Given the description of an element on the screen output the (x, y) to click on. 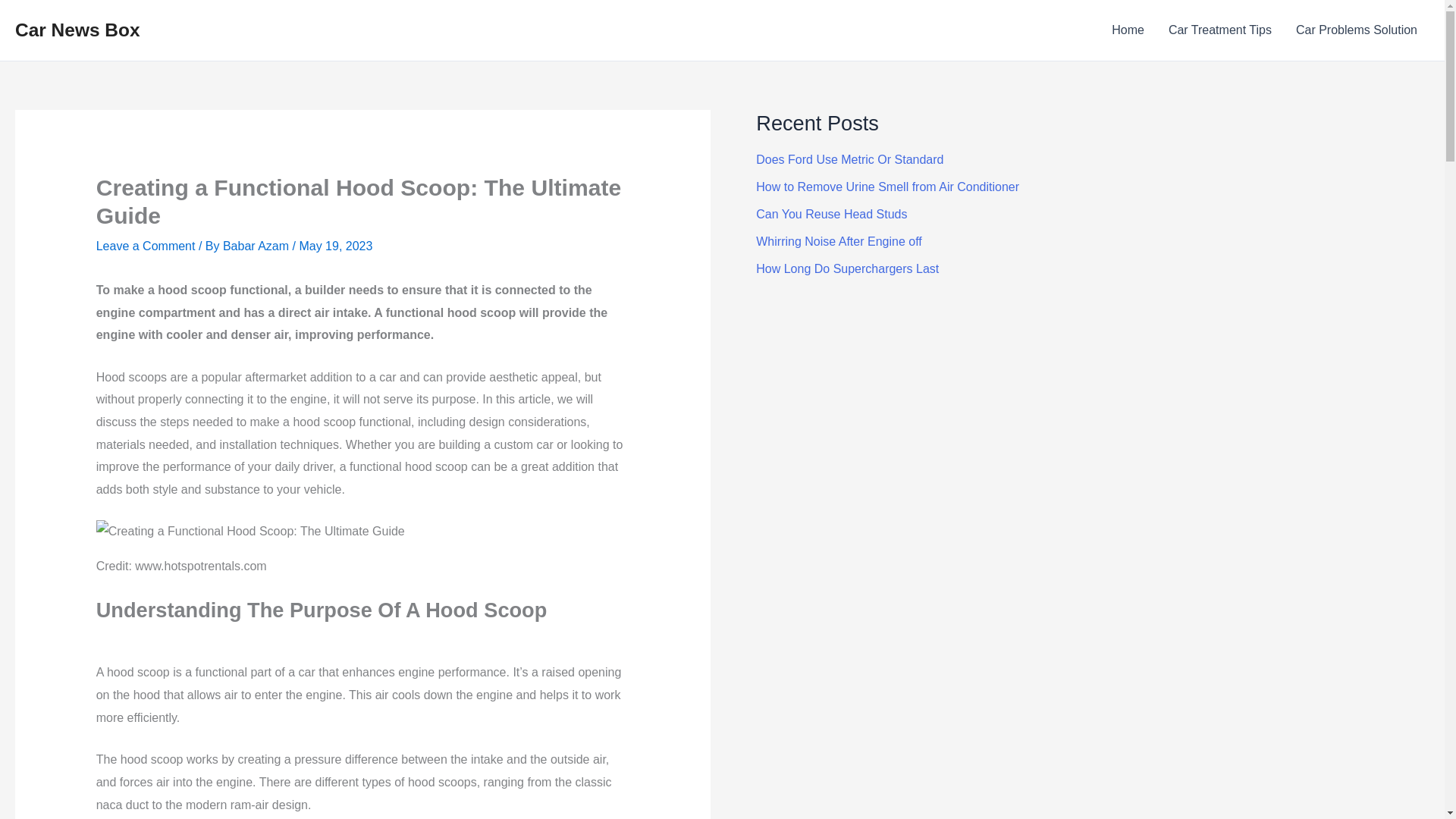
Car News Box (76, 29)
Car Treatment Tips (1220, 30)
Leave a Comment (145, 245)
View all posts by Babar Azam (257, 245)
How to Remove Urine Smell from Air Conditioner (887, 186)
Whirring Noise After Engine off (838, 241)
Babar Azam (257, 245)
Car Problems Solution (1356, 30)
Can You Reuse Head Studs (831, 214)
Home (1127, 30)
